Given the description of an element on the screen output the (x, y) to click on. 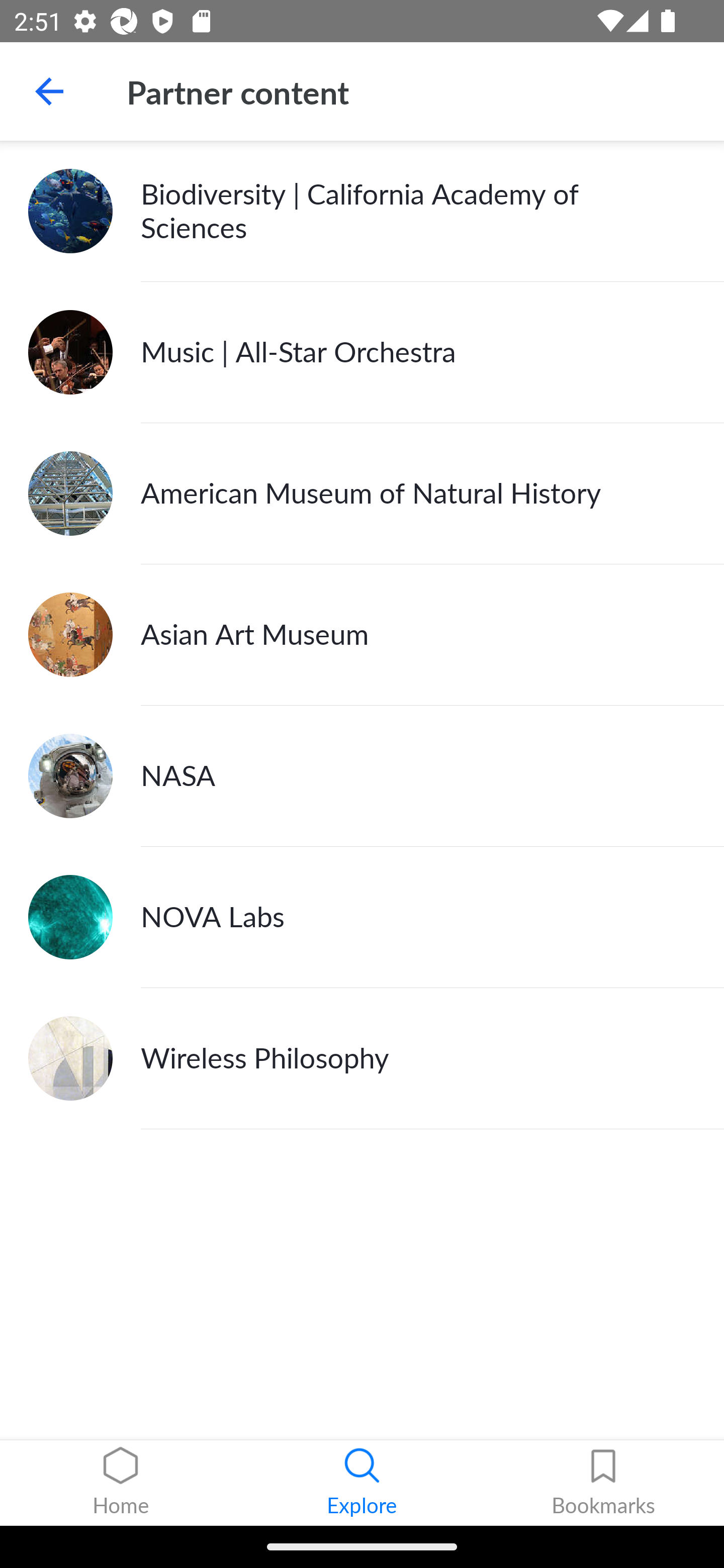
Navigate up (49, 91)
Biodiversity | California Academy of Sciences (362, 211)
Music | All-Star Orchestra (362, 352)
American Museum of Natural History (362, 493)
Asian Art Museum (362, 634)
NASA (362, 775)
NOVA Labs (362, 916)
Wireless Philosophy (362, 1057)
Home (120, 1482)
Explore (361, 1482)
Bookmarks (603, 1482)
